Given the description of an element on the screen output the (x, y) to click on. 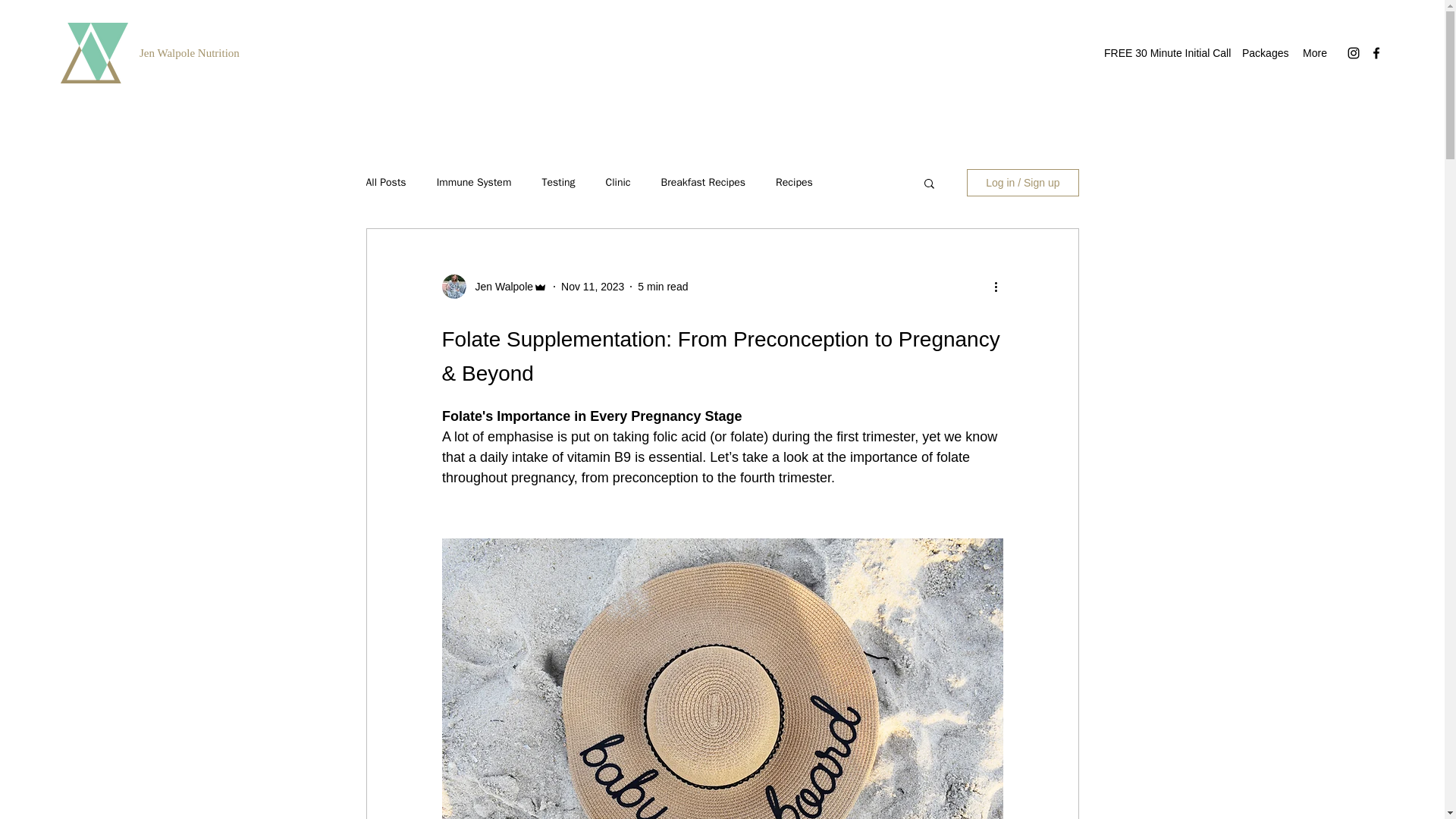
Packages (1264, 52)
Recipes (794, 182)
Testing (558, 182)
Immune System (474, 182)
FREE 30 Minute Initial Call (1165, 52)
Nov 11, 2023 (592, 286)
All Posts (385, 182)
Clinic (617, 182)
Breakfast Recipes (703, 182)
5 min read (662, 286)
Jen Walpole (498, 286)
